Given the description of an element on the screen output the (x, y) to click on. 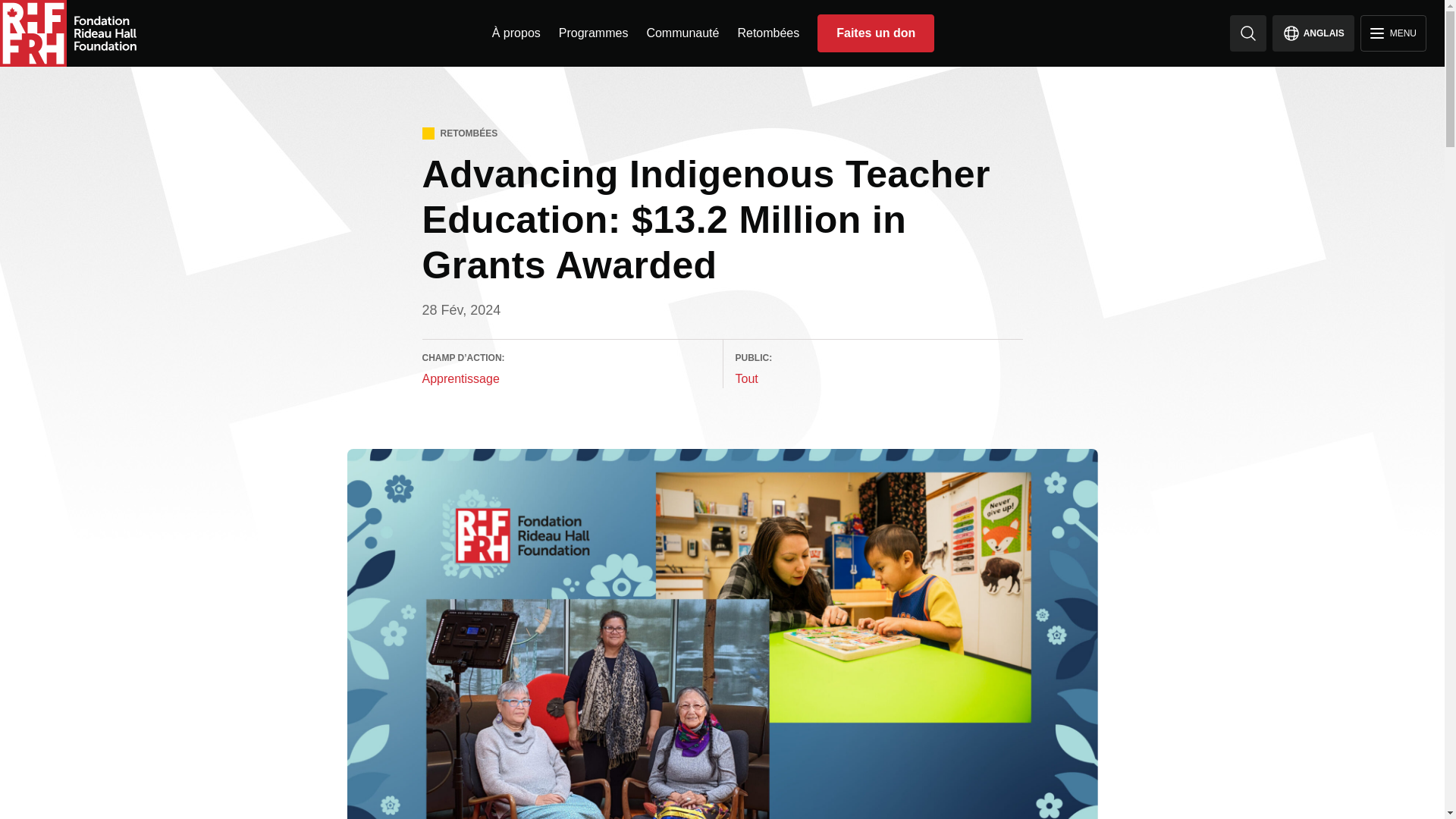
Faites un don (875, 33)
Foundation Rideau Hall Foundation (68, 33)
ANGLAIS (1313, 33)
Programmes (1392, 33)
Recherche (593, 32)
